Given the description of an element on the screen output the (x, y) to click on. 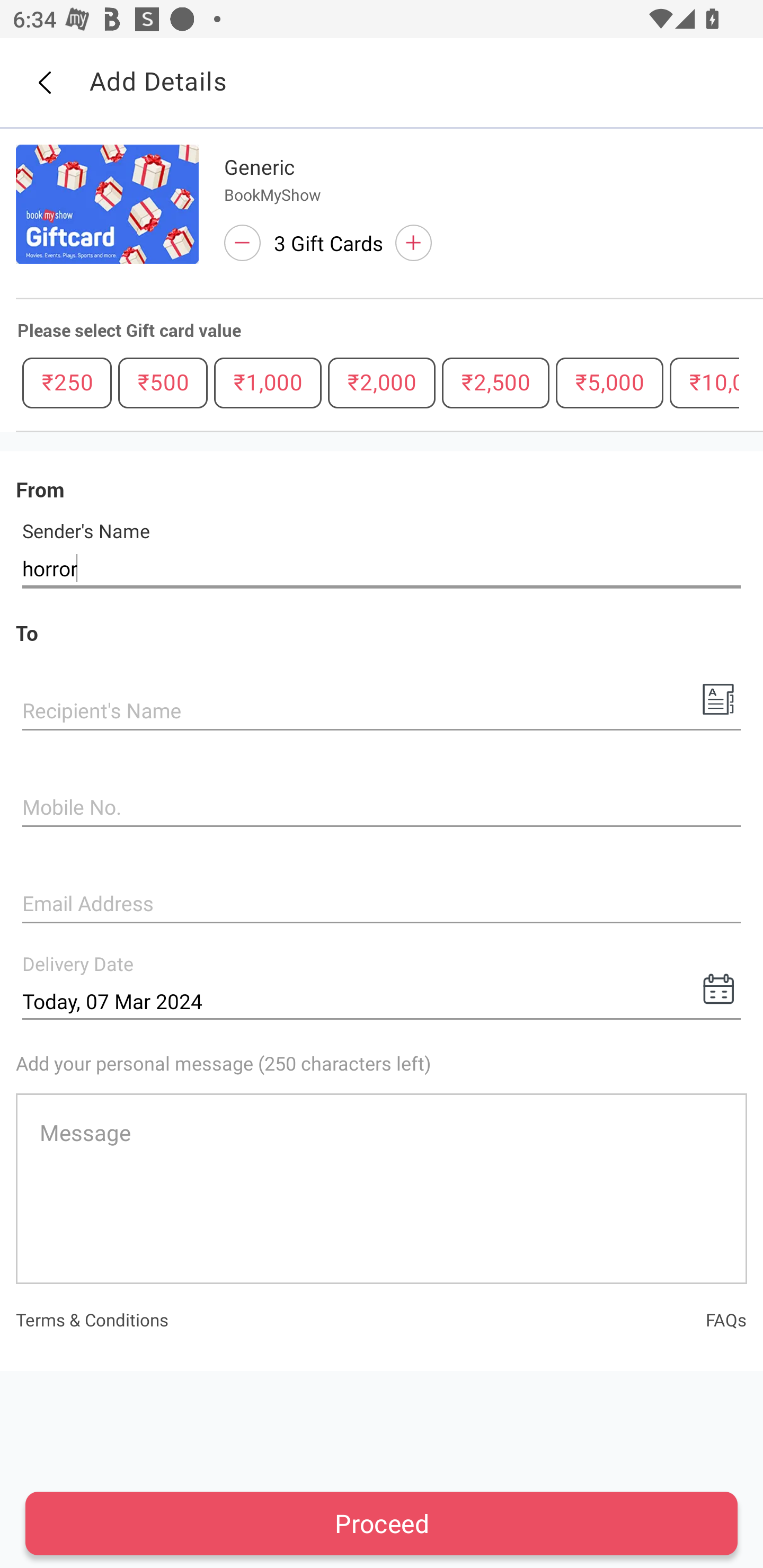
Back (44, 82)
Minus (242, 242)
Plus (413, 242)
₹250 (67, 382)
₹500 (162, 382)
₹1,000 (267, 382)
₹2,000 (381, 382)
₹2,500 (495, 382)
₹5,000 (609, 382)
horror (381, 567)
Recipient's Name (381, 712)
Mobile No. (381, 807)
Email Address (381, 905)
Today, 07 Mar 2024 (381, 1000)
Message (381, 1188)
FAQs (725, 1319)
Proceed (381, 1523)
